Given the description of an element on the screen output the (x, y) to click on. 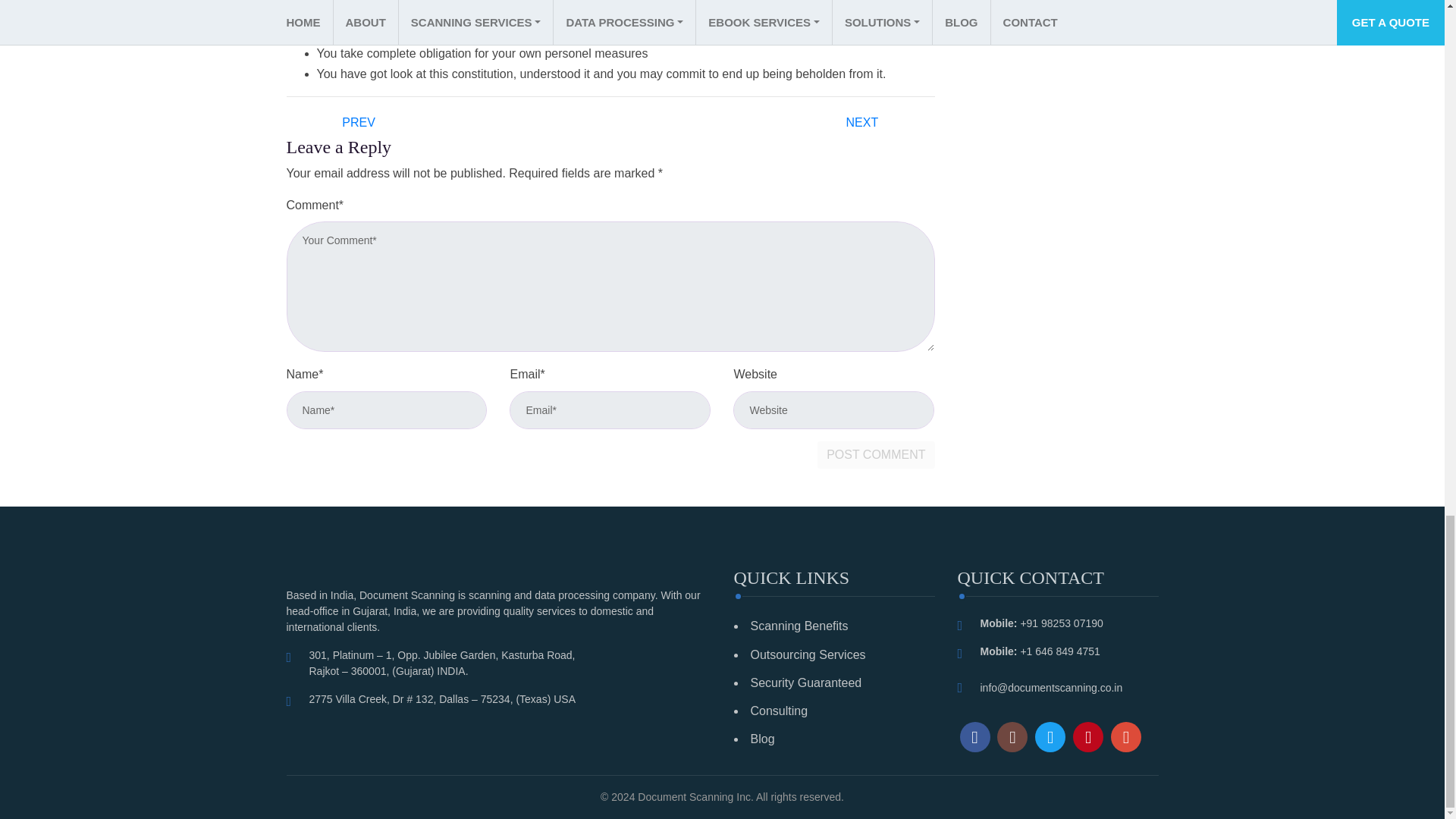
Post Comment (875, 454)
NEXT (862, 122)
Post Comment (875, 454)
PREV (358, 122)
